Given the description of an element on the screen output the (x, y) to click on. 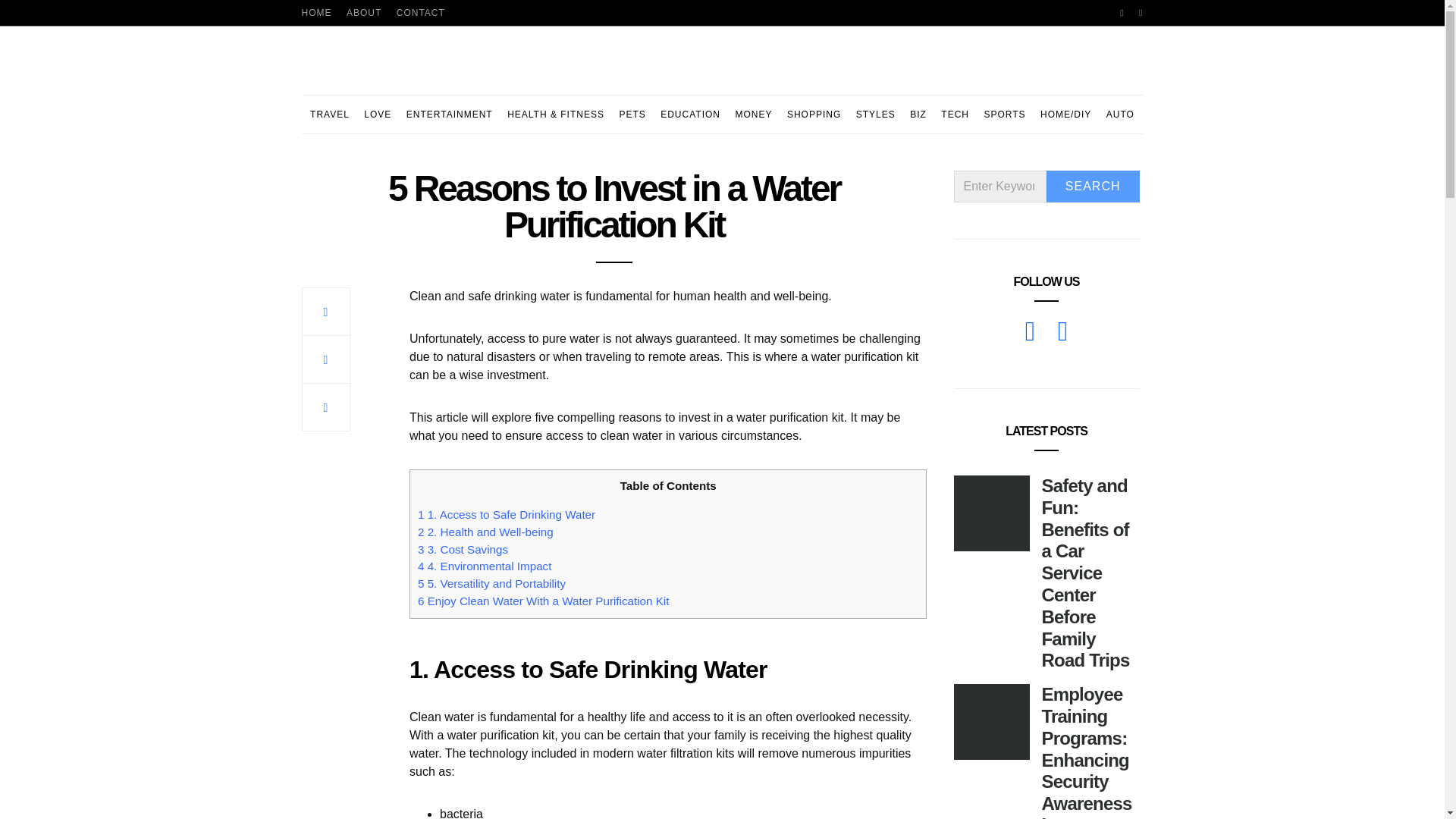
6 Enjoy Clean Water With a Water Purification Kit (542, 600)
HOME (316, 12)
SPORTS (1004, 114)
STYLES (875, 114)
EDUCATION (690, 114)
ABOUT (363, 12)
3 3. Cost Savings (462, 549)
2 2. Health and Well-being (485, 531)
TRAVEL (329, 114)
1 1. Access to Safe Drinking Water (506, 513)
4 4. Environmental Impact (484, 565)
MONEY (753, 114)
ENTERTAINMENT (449, 114)
5 5. Versatility and Portability (491, 583)
SHOPPING (814, 114)
